Given the description of an element on the screen output the (x, y) to click on. 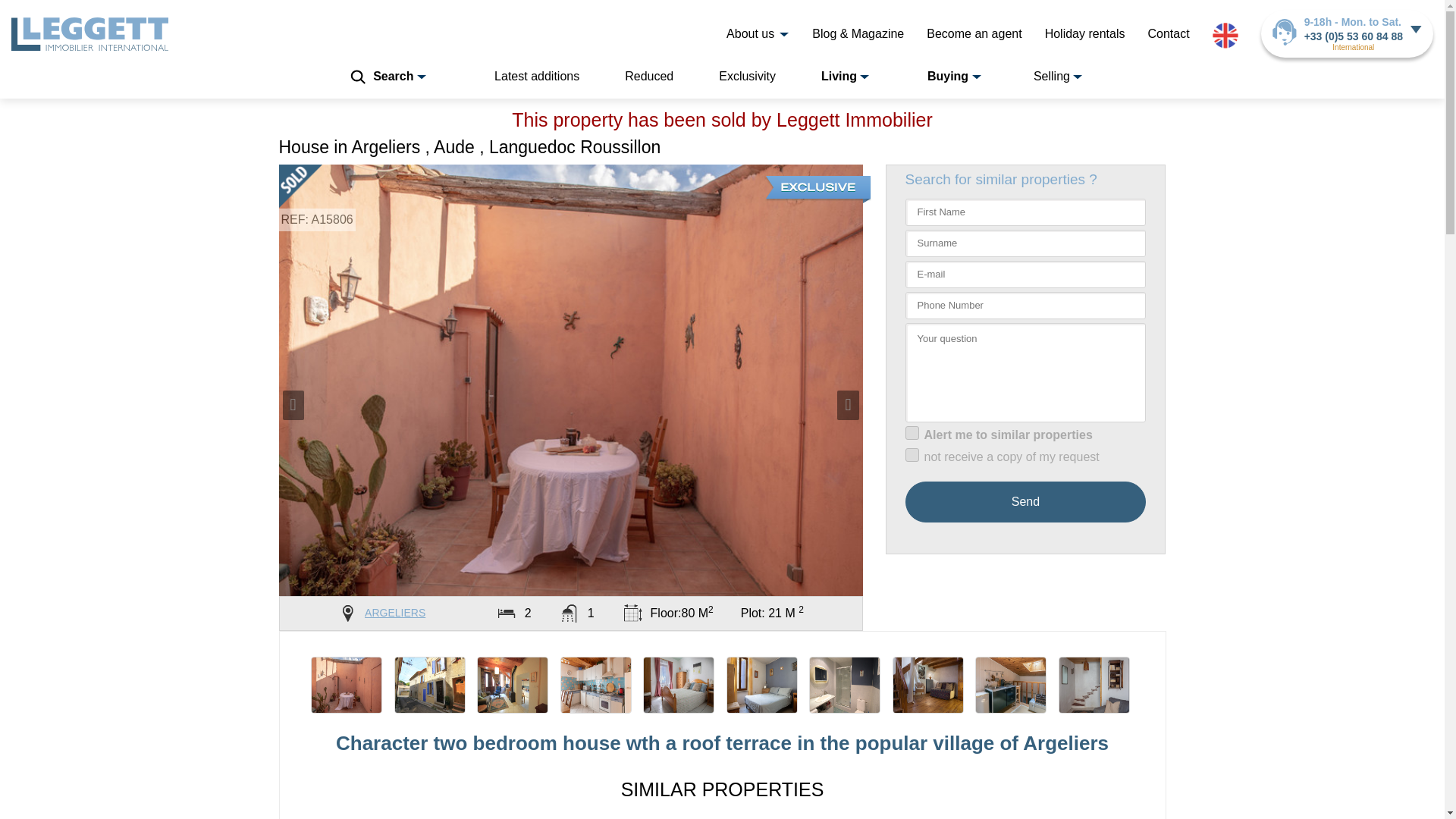
Exclusive (817, 189)
French property for sale in Argeliers, Aude - photo 2 (429, 684)
French property for sale in Argeliers, Aude - photo 8 (927, 684)
French property for sale in Argeliers, Aude - photo 3 (512, 684)
French property for sale in Argeliers, Aude - photo 10 (1093, 684)
Become an agent (974, 33)
Holiday rentals (1085, 33)
Contact (1168, 33)
French property for sale in Argeliers, Aude - photo 6 (761, 684)
REGISTER NOW (897, 11)
